Given the description of an element on the screen output the (x, y) to click on. 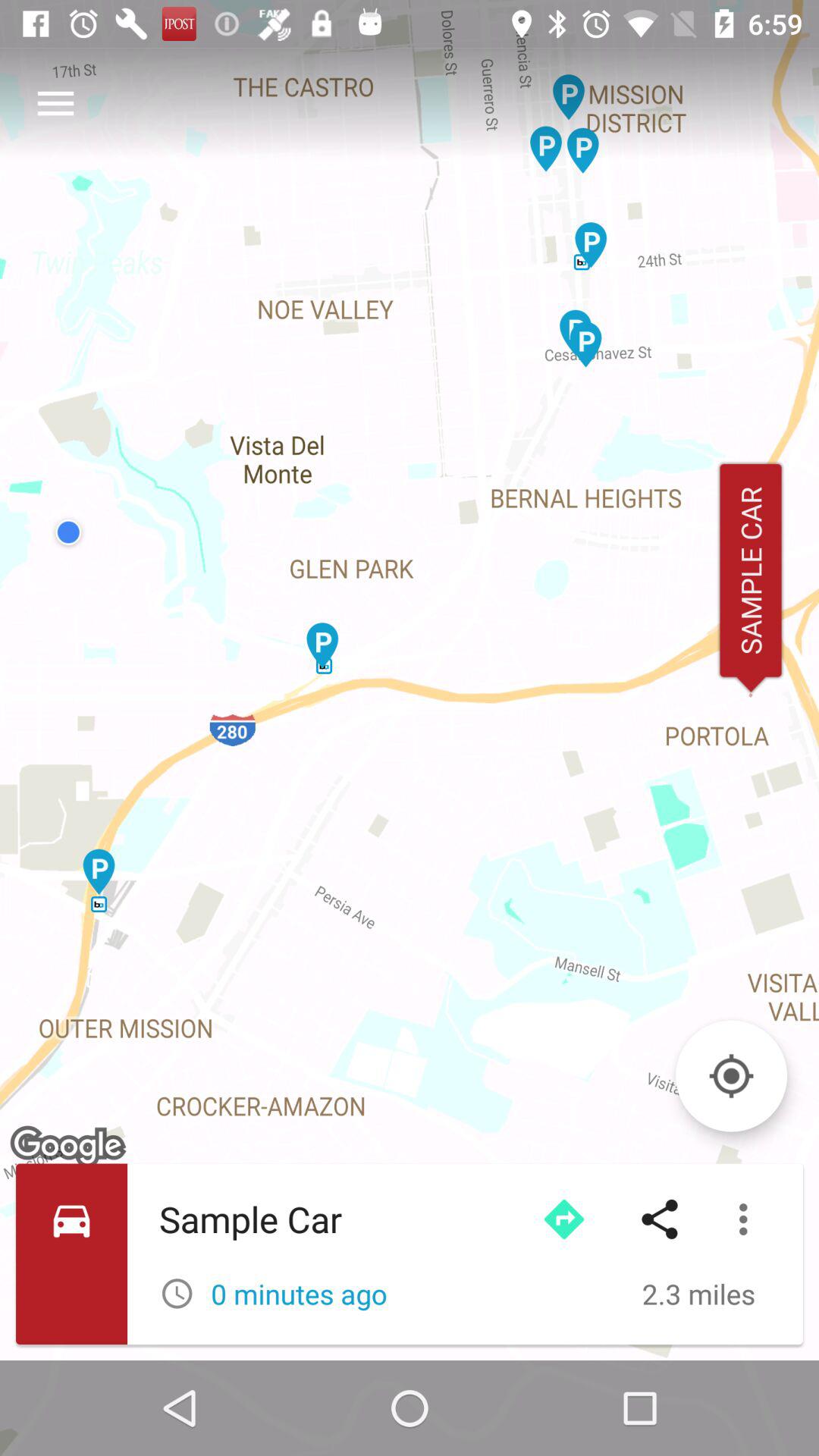
zoom in (731, 1075)
